Given the description of an element on the screen output the (x, y) to click on. 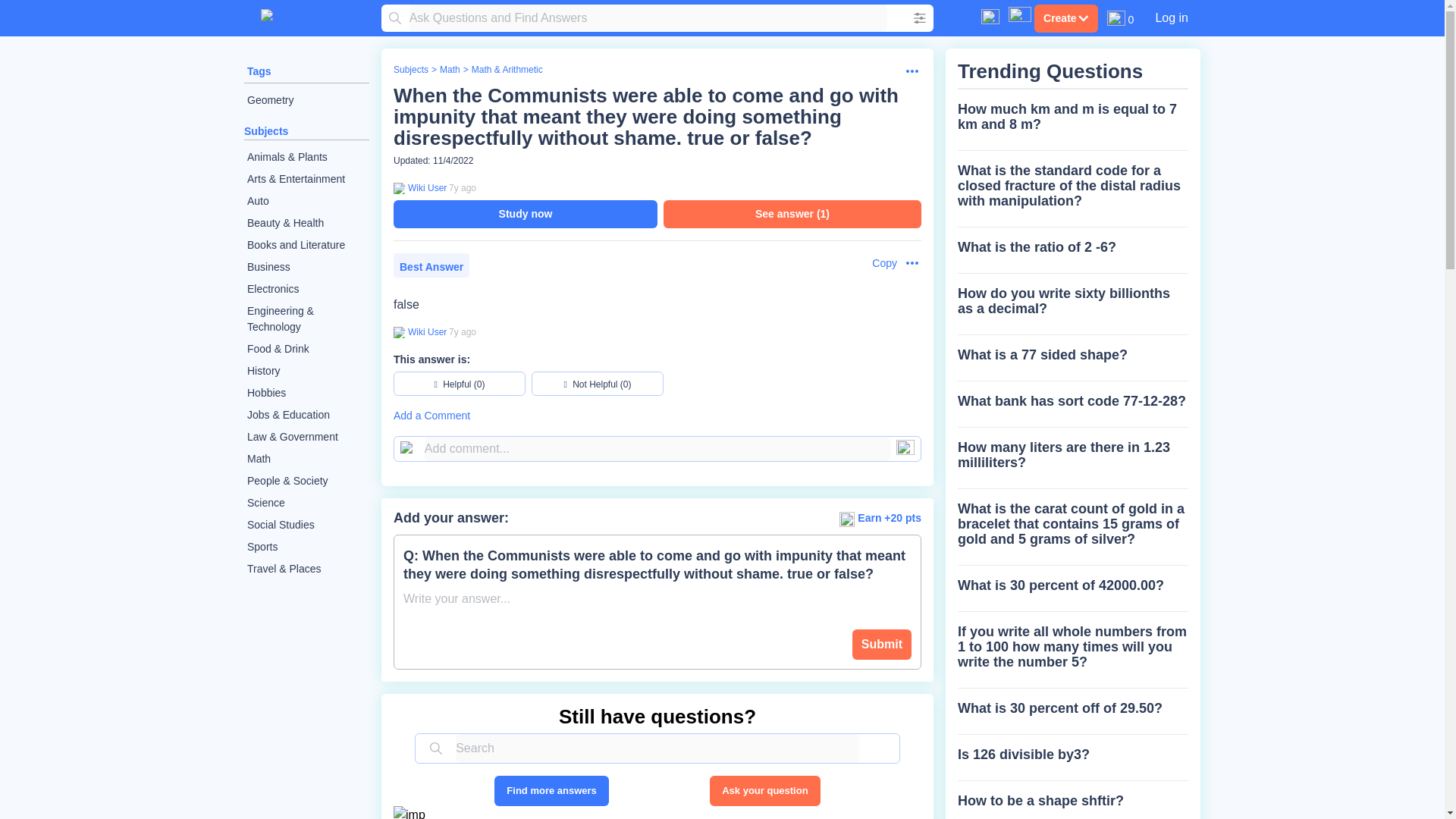
Electronics (306, 289)
Wiki User (425, 331)
2016-10-18 19:17:07 (462, 331)
Hobbies (306, 393)
Study now (525, 213)
Sports (306, 546)
Science (306, 503)
Math (306, 458)
Math (449, 69)
Books and Literature (306, 245)
